Given the description of an element on the screen output the (x, y) to click on. 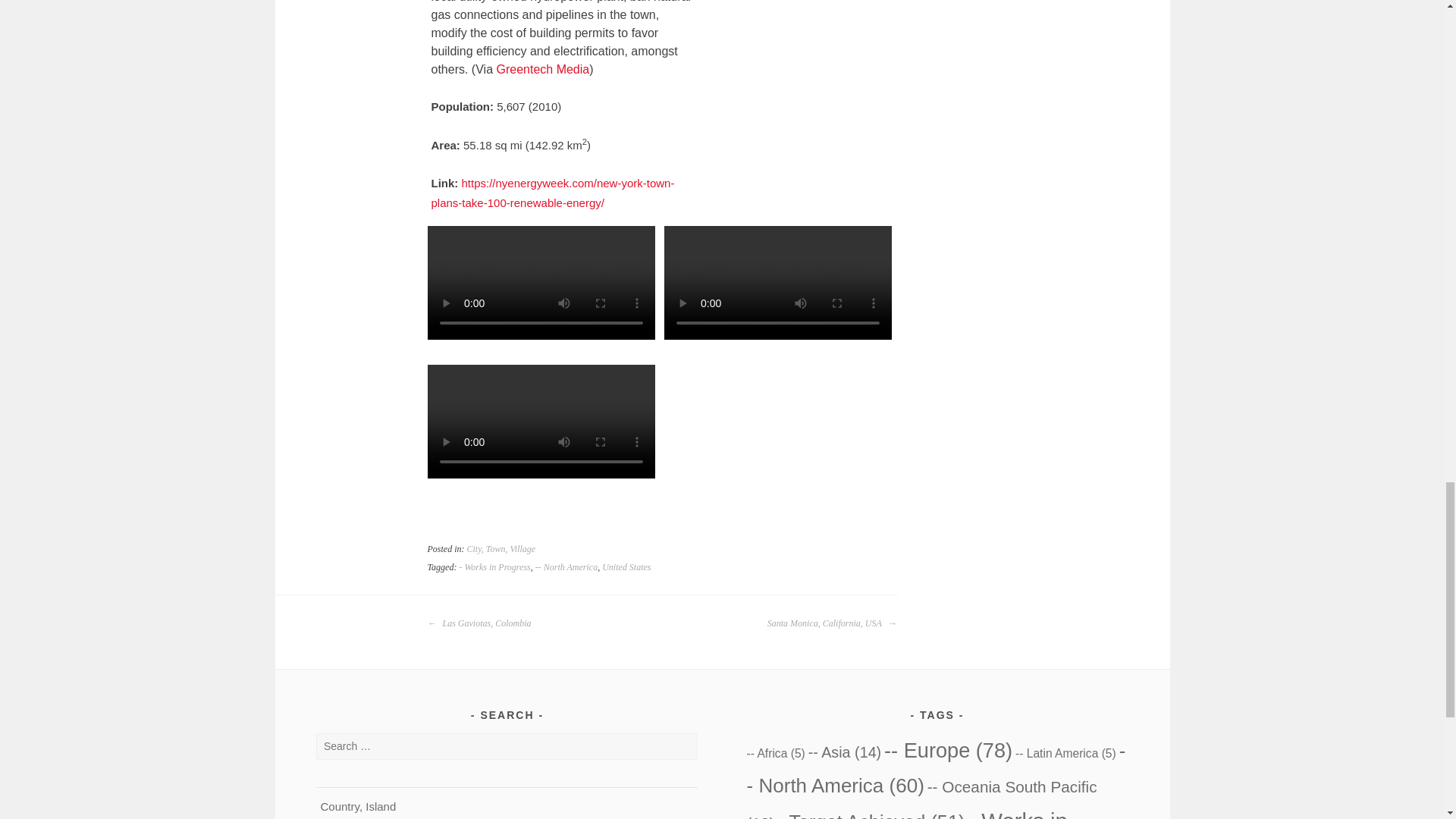
 Las Gaviotas, Colombia (479, 623)
City, Town, Village (501, 548)
-- North America (565, 566)
Country, Island (358, 806)
United States (626, 566)
Santa Monica, California, USA  (831, 623)
Greentech Media (542, 69)
- Works in Progress (493, 566)
